Given the description of an element on the screen output the (x, y) to click on. 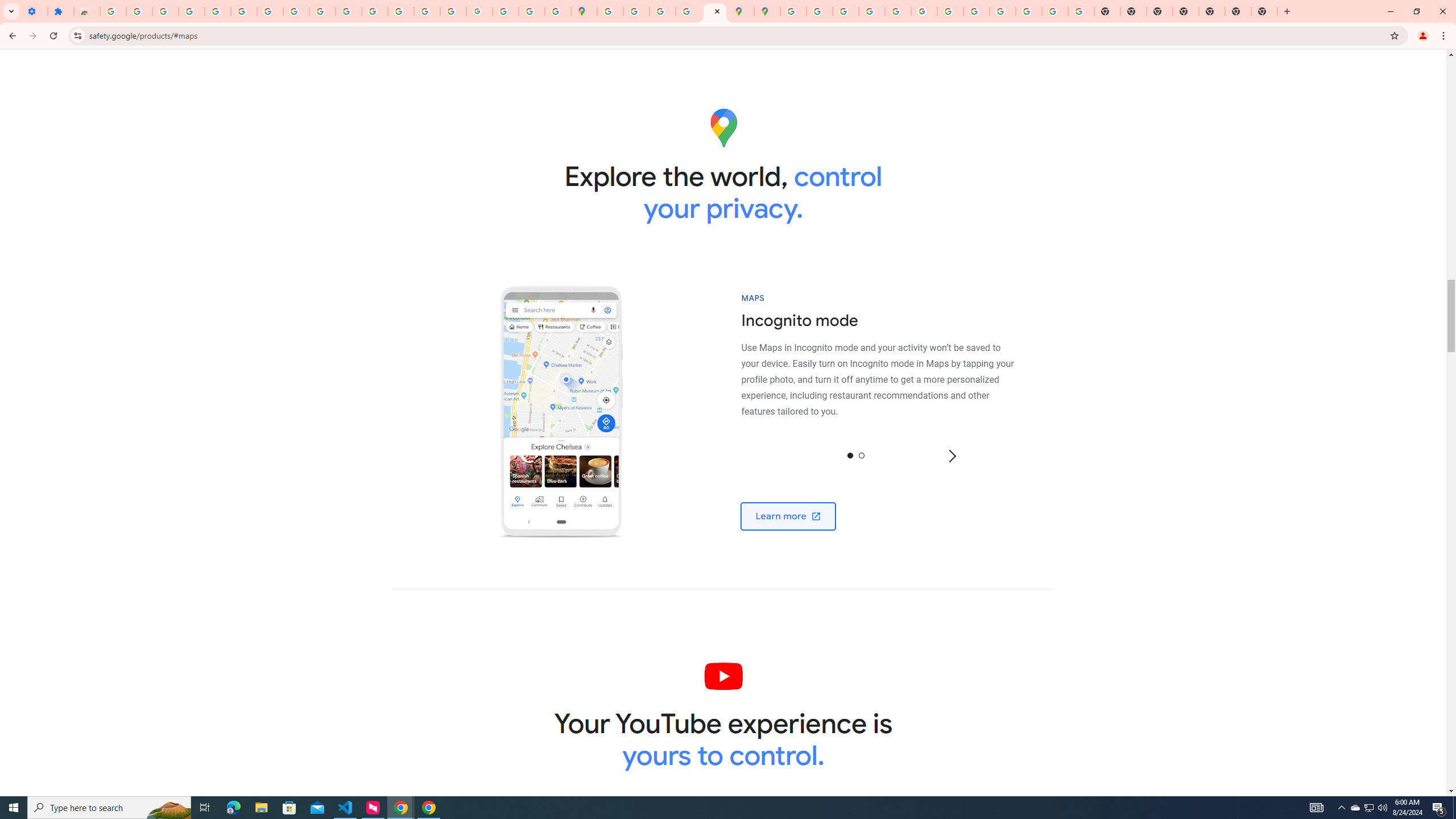
YouTube (949, 11)
Sign in - Google Accounts (243, 11)
